Given the description of an element on the screen output the (x, y) to click on. 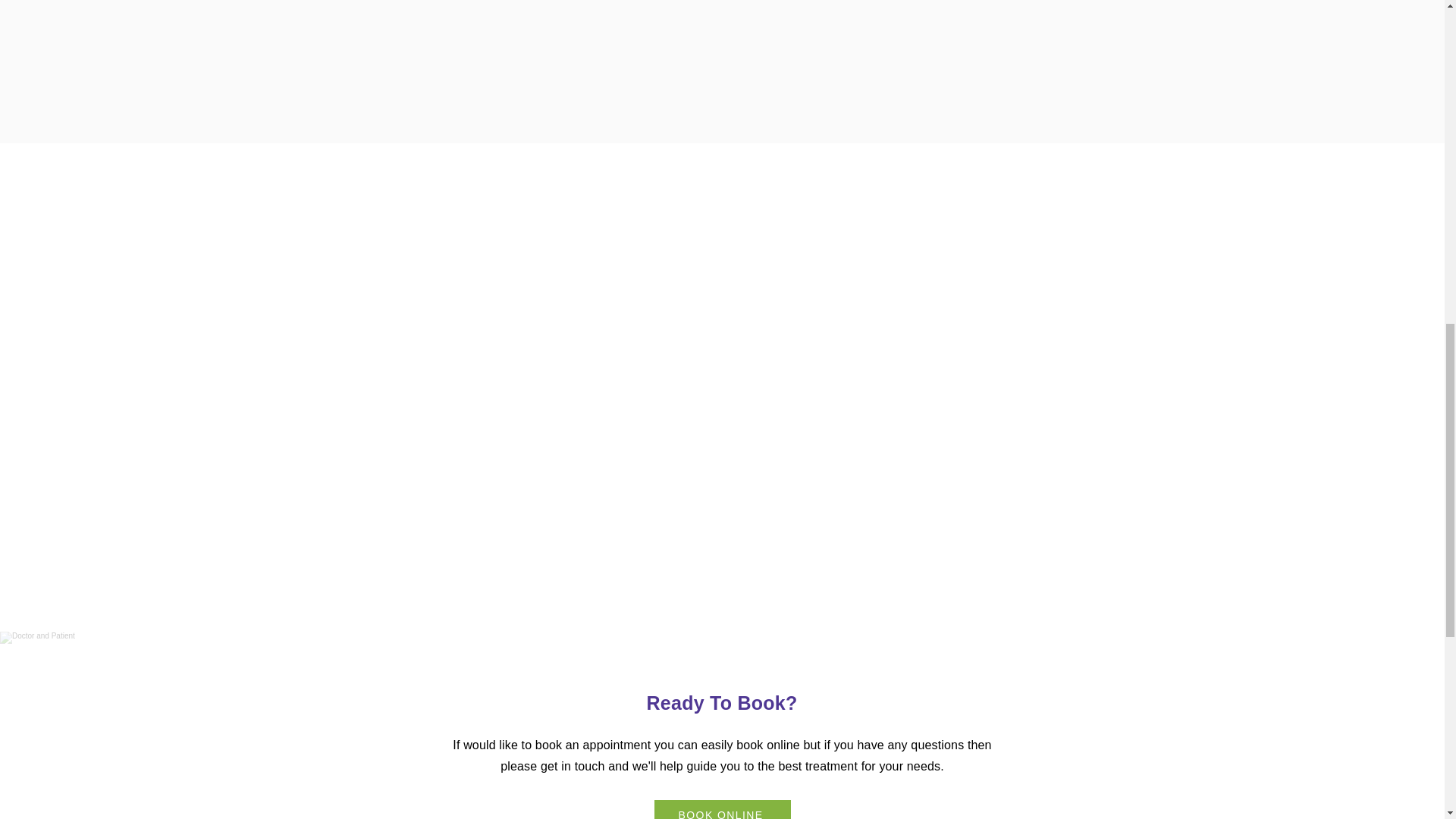
BOOK ONLINE (721, 809)
